Given the description of an element on the screen output the (x, y) to click on. 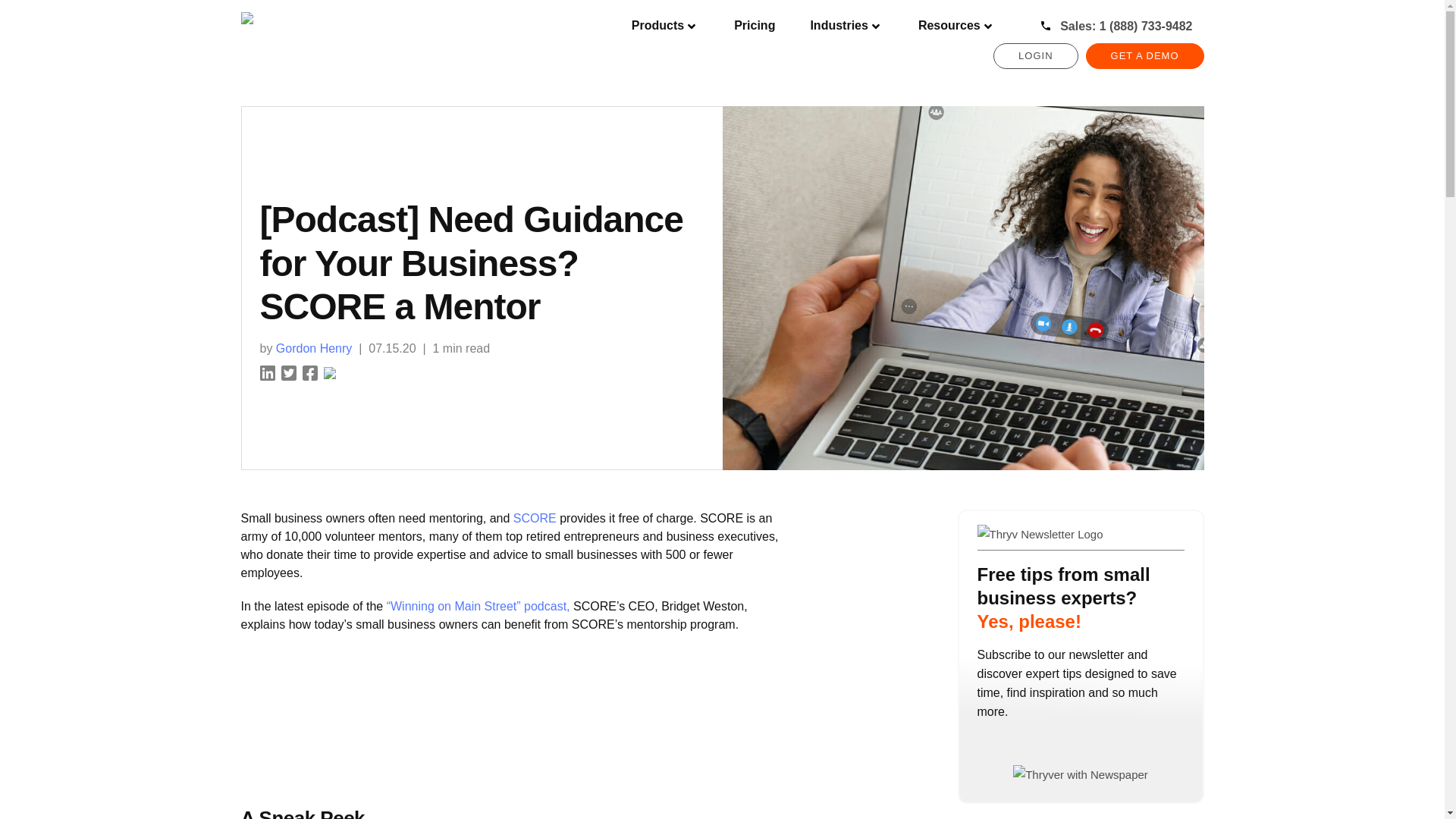
Share on LinkedIn (267, 371)
Share on Facebook (309, 371)
Copy Link (329, 371)
Share on X (289, 371)
Posts by Gordon Henry (314, 348)
Industries (846, 26)
Products (664, 26)
Pricing (754, 26)
